Given the description of an element on the screen output the (x, y) to click on. 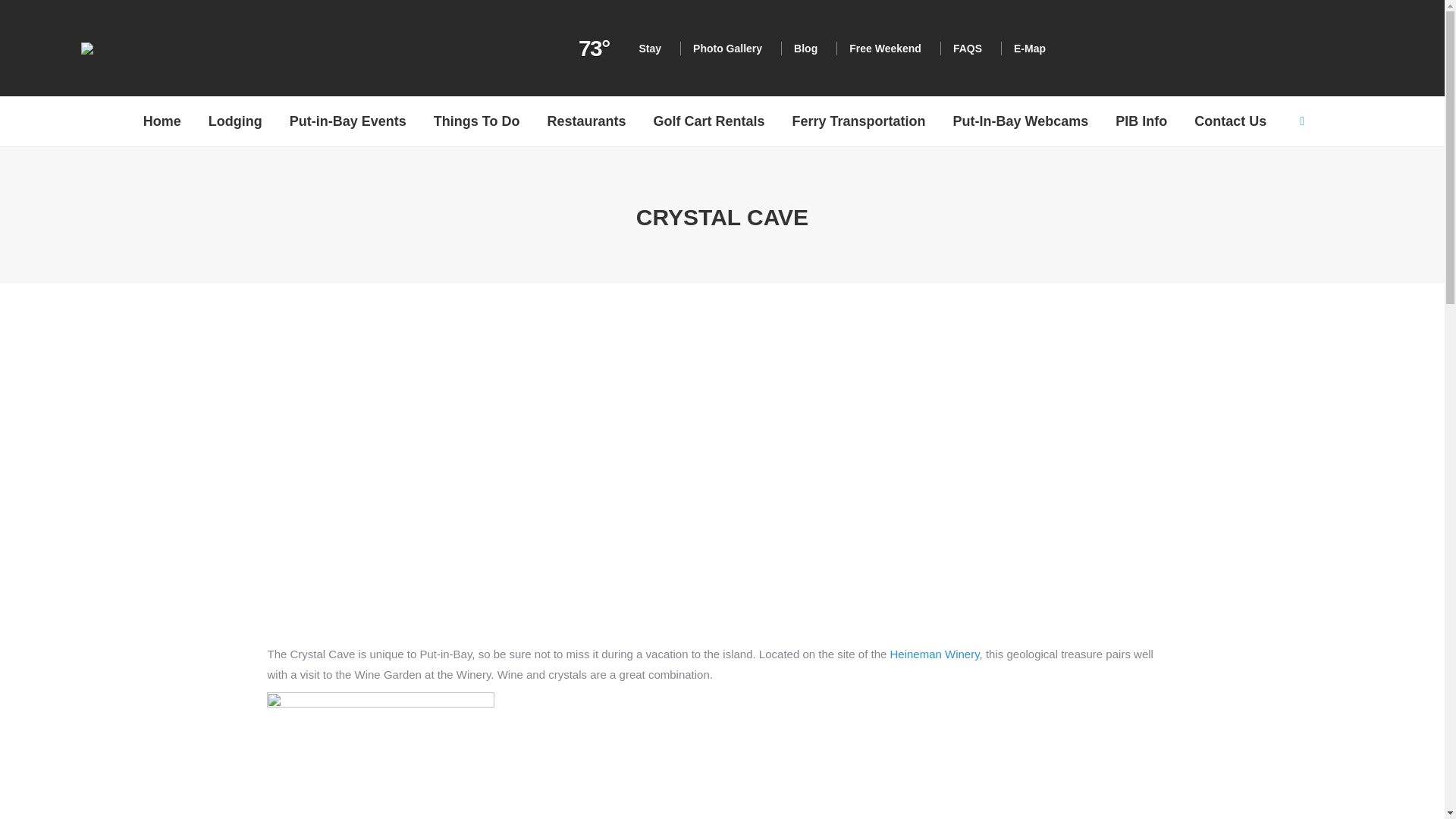
Blog (804, 47)
FAQS (967, 47)
Stay (650, 47)
E-Map (1029, 47)
Put-in-Bay Events (347, 120)
Home (161, 120)
Things To Do (476, 120)
Lodging (234, 120)
Photo Gallery (727, 47)
Free Weekend (884, 47)
